Given the description of an element on the screen output the (x, y) to click on. 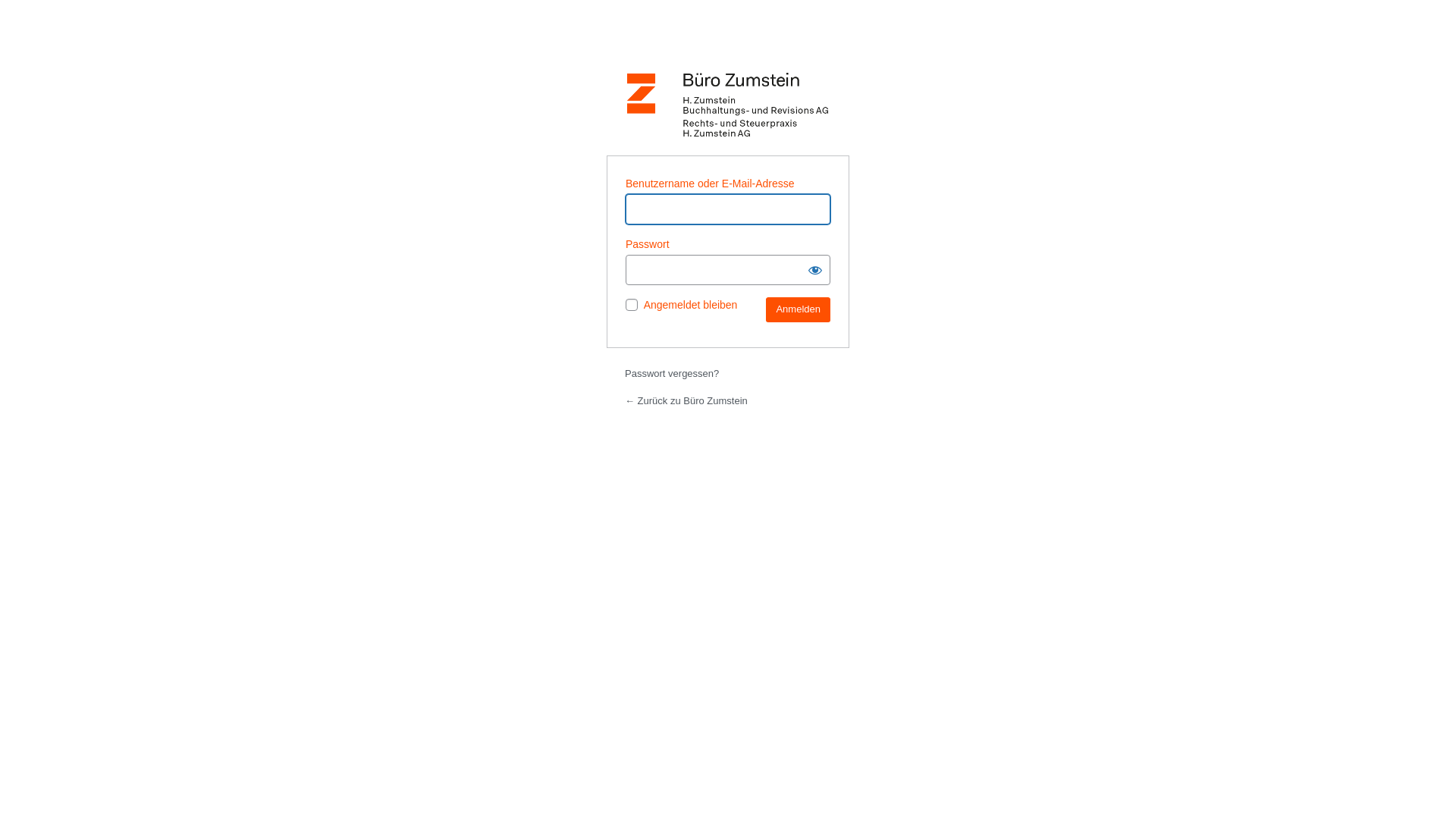
Passwort vergessen? Element type: text (671, 373)
Powered by WordPress Element type: text (727, 104)
Wechseln Element type: text (808, 434)
Anmelden Element type: text (797, 309)
